Given the description of an element on the screen output the (x, y) to click on. 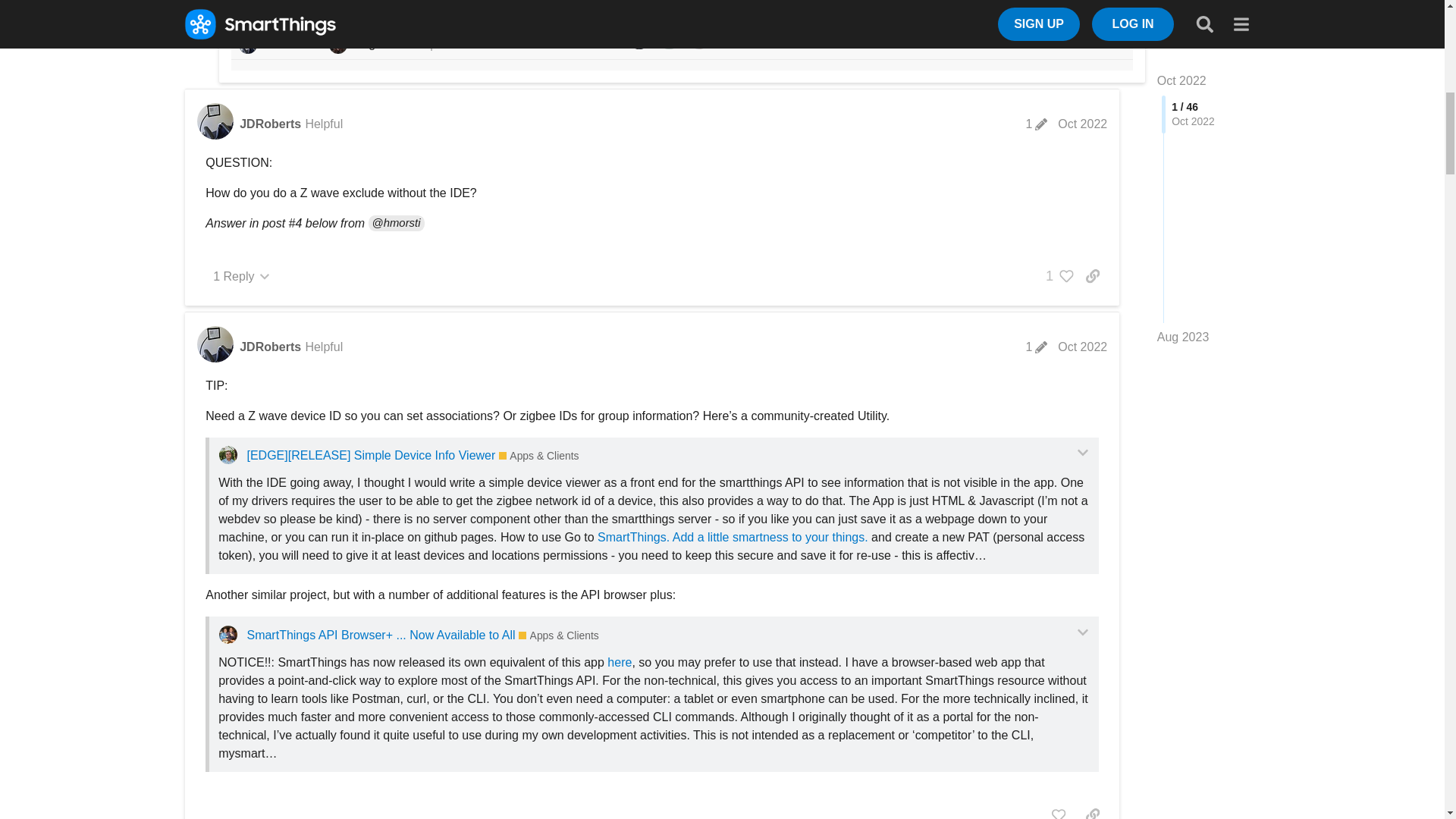
last reply (367, 25)
